Given the description of an element on the screen output the (x, y) to click on. 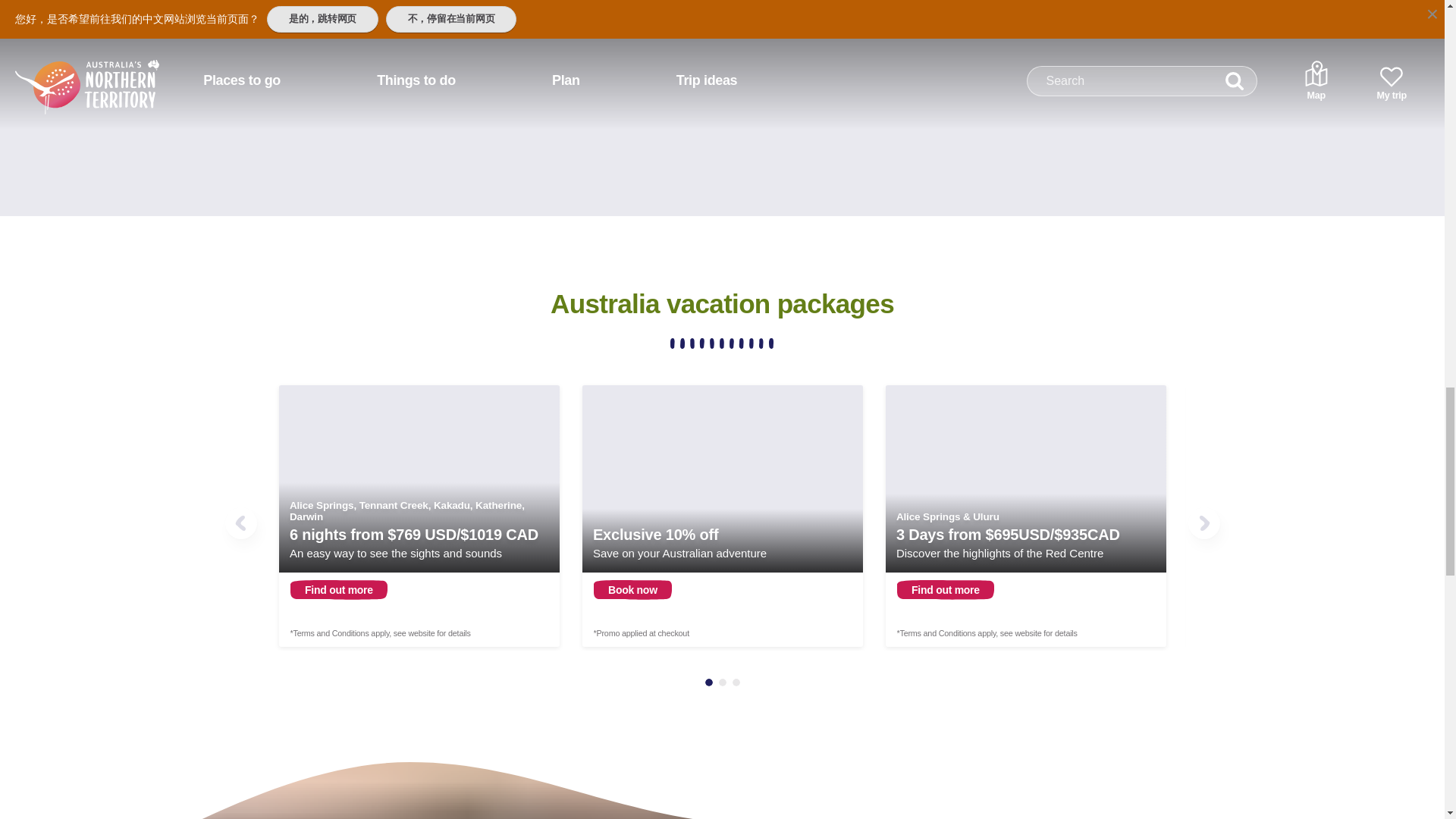
Opens in a new window (1025, 515)
Opens in a new window (419, 515)
Opens in a new window (722, 515)
